Given the description of an element on the screen output the (x, y) to click on. 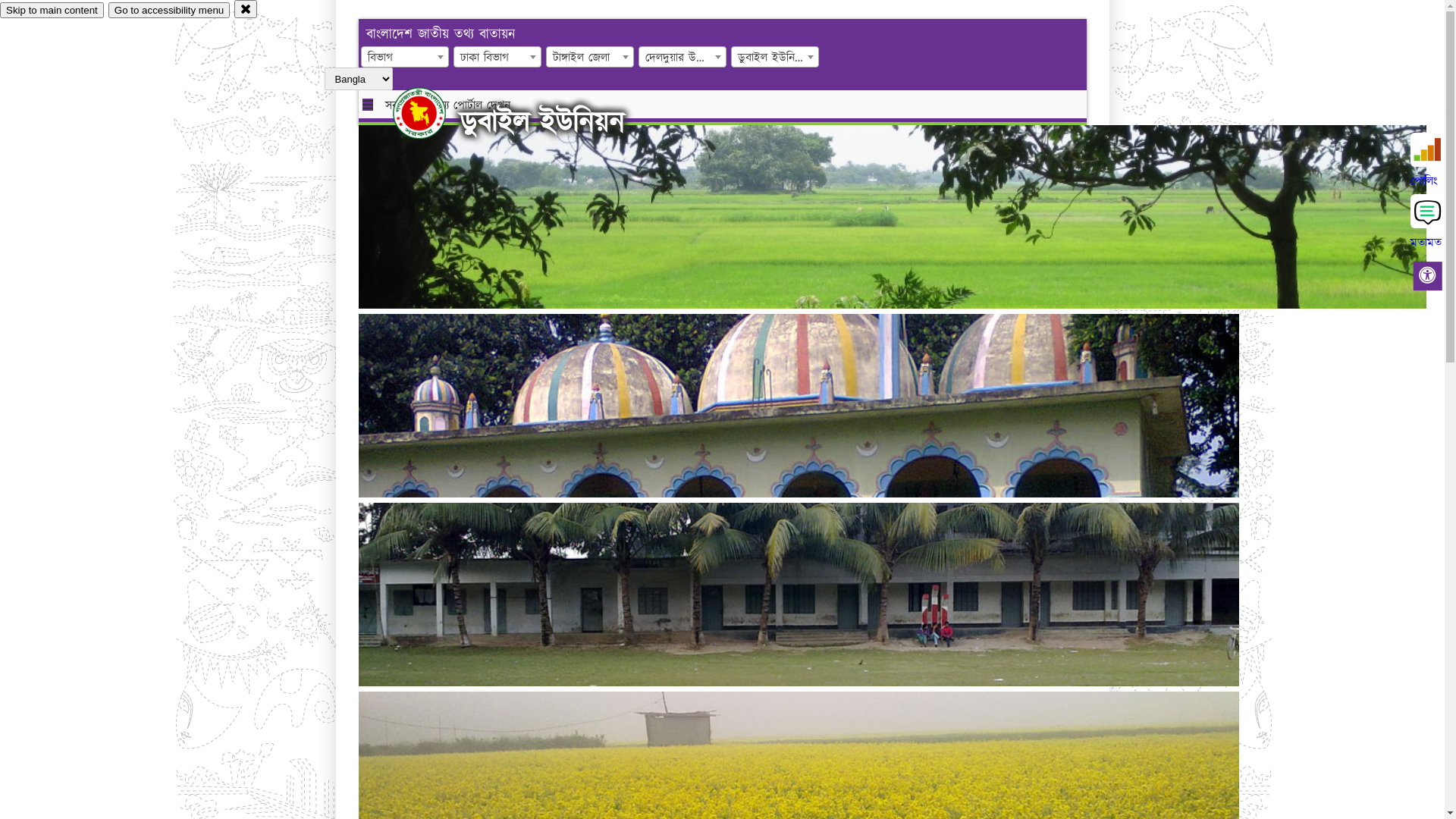
Go to accessibility menu Element type: text (168, 10)

                
             Element type: hover (431, 112)
Skip to main content Element type: text (51, 10)
close Element type: hover (245, 9)
